Given the description of an element on the screen output the (x, y) to click on. 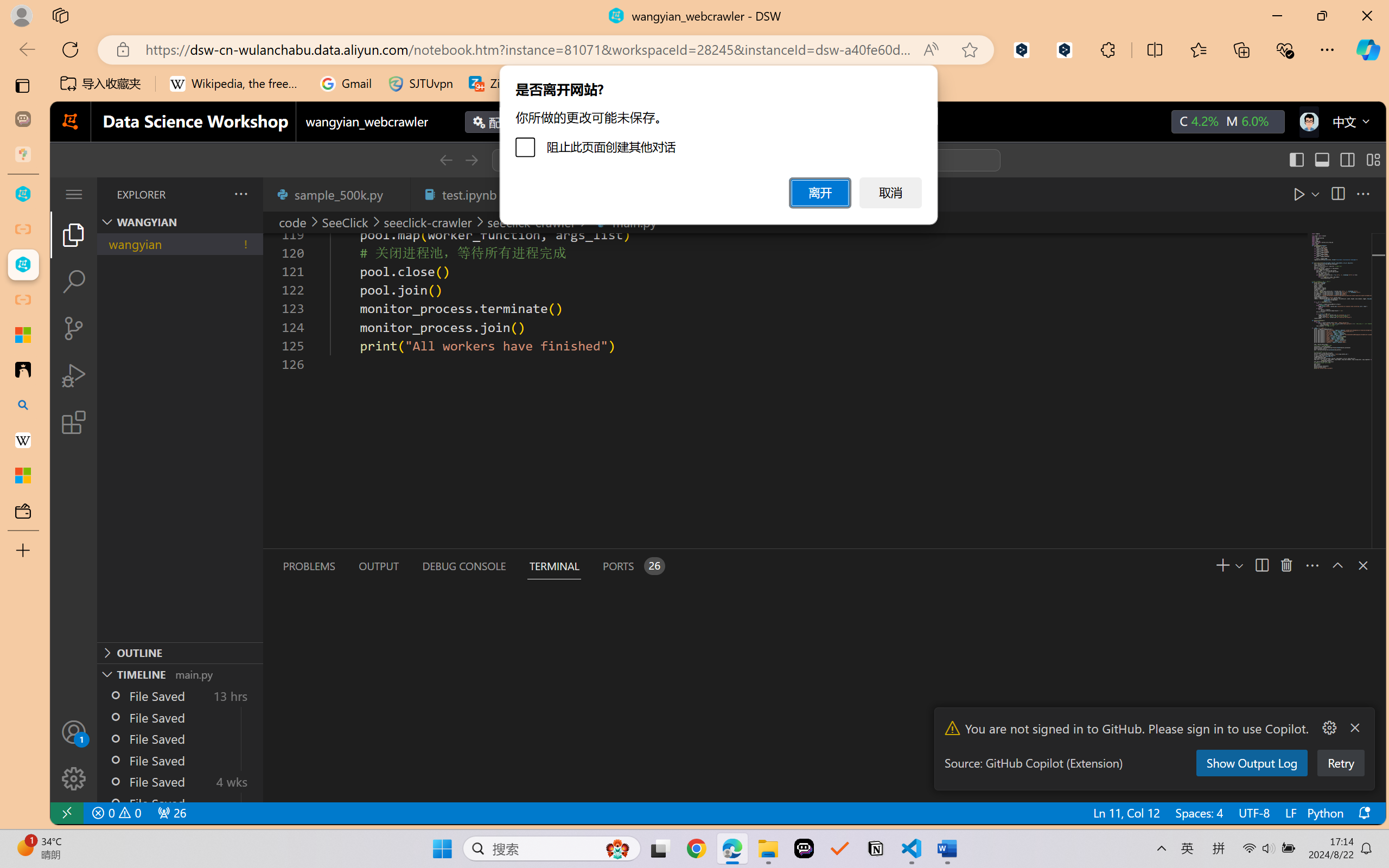
remote (66, 812)
No Problems (115, 812)
Earth - Wikipedia (22, 440)
Extensions (Ctrl+Shift+X) (73, 422)
Customize Layout... (1372, 159)
Retry (1339, 762)
